Given the description of an element on the screen output the (x, y) to click on. 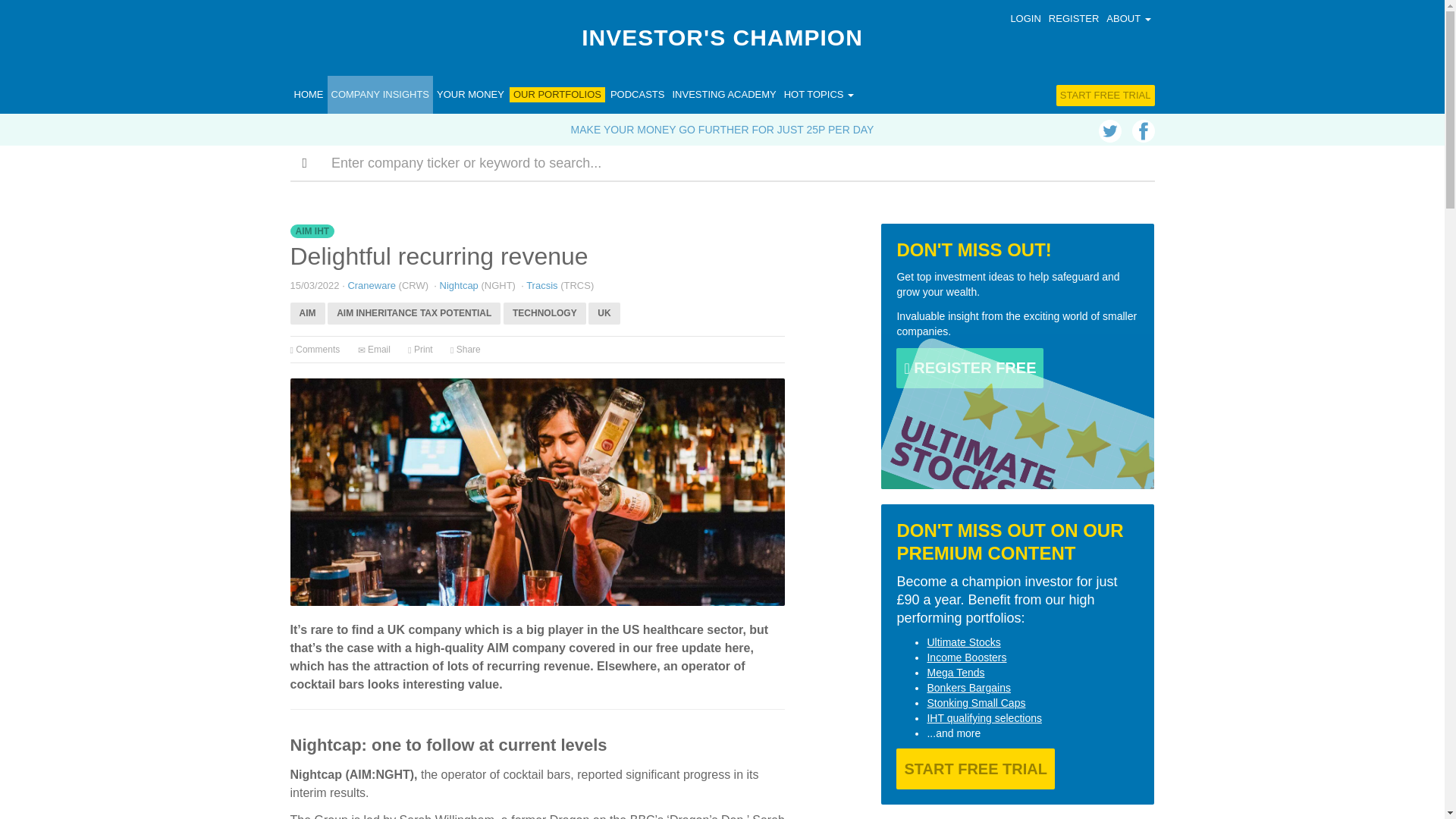
REGISTER (1073, 18)
PODCASTS (637, 94)
Craneware (371, 285)
Nightcap (459, 285)
MAKE YOUR MONEY GO FURTHER FOR JUST 25P PER DAY (722, 129)
YOUR MONEY (470, 94)
HOME (307, 94)
HOT TOPICS (818, 94)
OUR PORTFOLIOS (557, 94)
START FREE TRIAL (1105, 95)
INVESTING ACADEMY (723, 94)
INVESTOR'S CHAMPION (721, 38)
COMPANY INSIGHTS (380, 94)
ABOUT (1128, 18)
AIM IHT (311, 232)
